Given the description of an element on the screen output the (x, y) to click on. 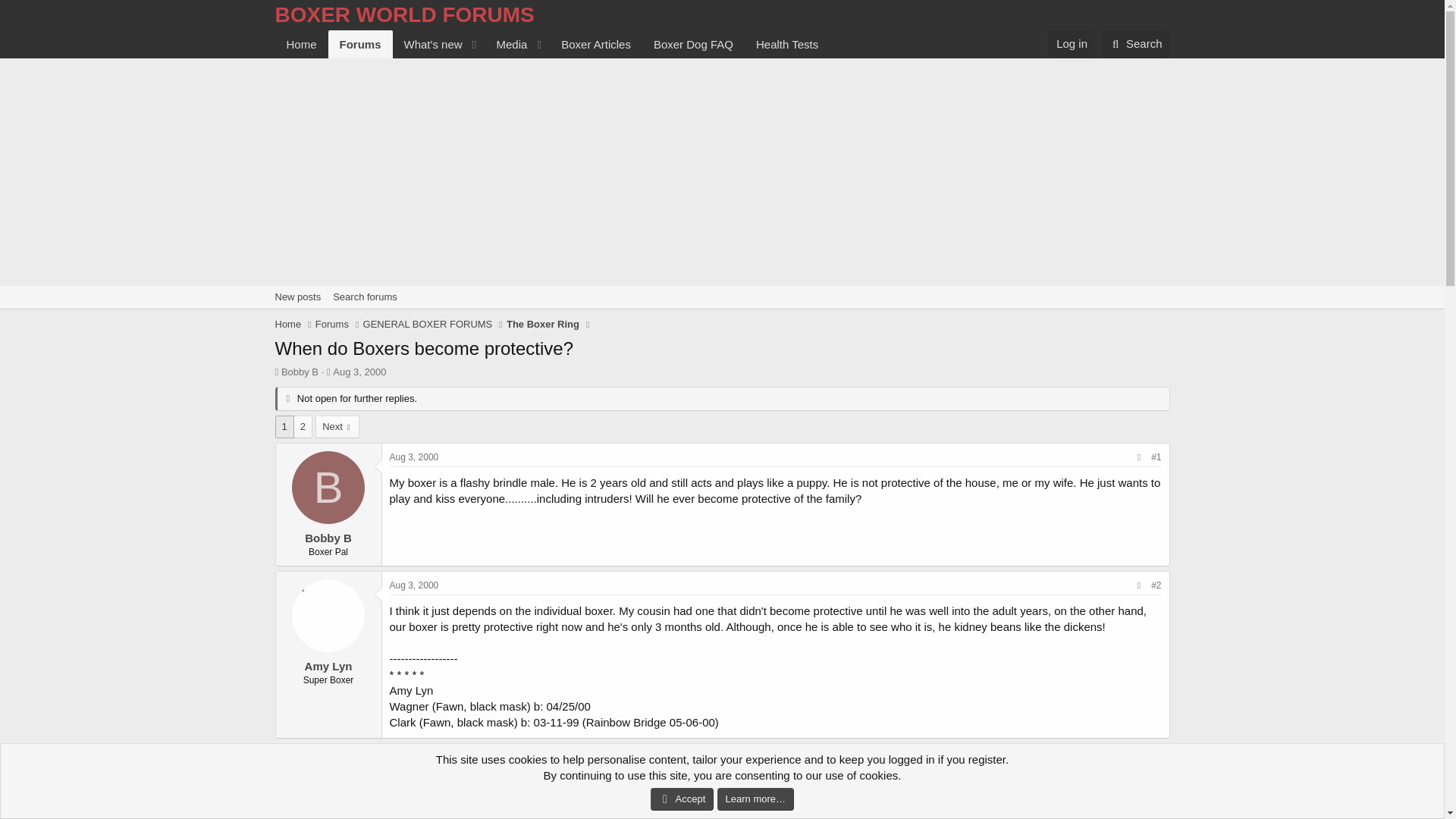
Boxer Dog FAQ (693, 44)
Aug 3, 2000 (359, 371)
Next (337, 426)
Home (288, 324)
Bobby B (299, 371)
Health Tests (786, 44)
The Boxer Ring (542, 324)
Boxer Articles (596, 44)
Aug 3, 2000 at 11:23 PM (414, 757)
